Given the description of an element on the screen output the (x, y) to click on. 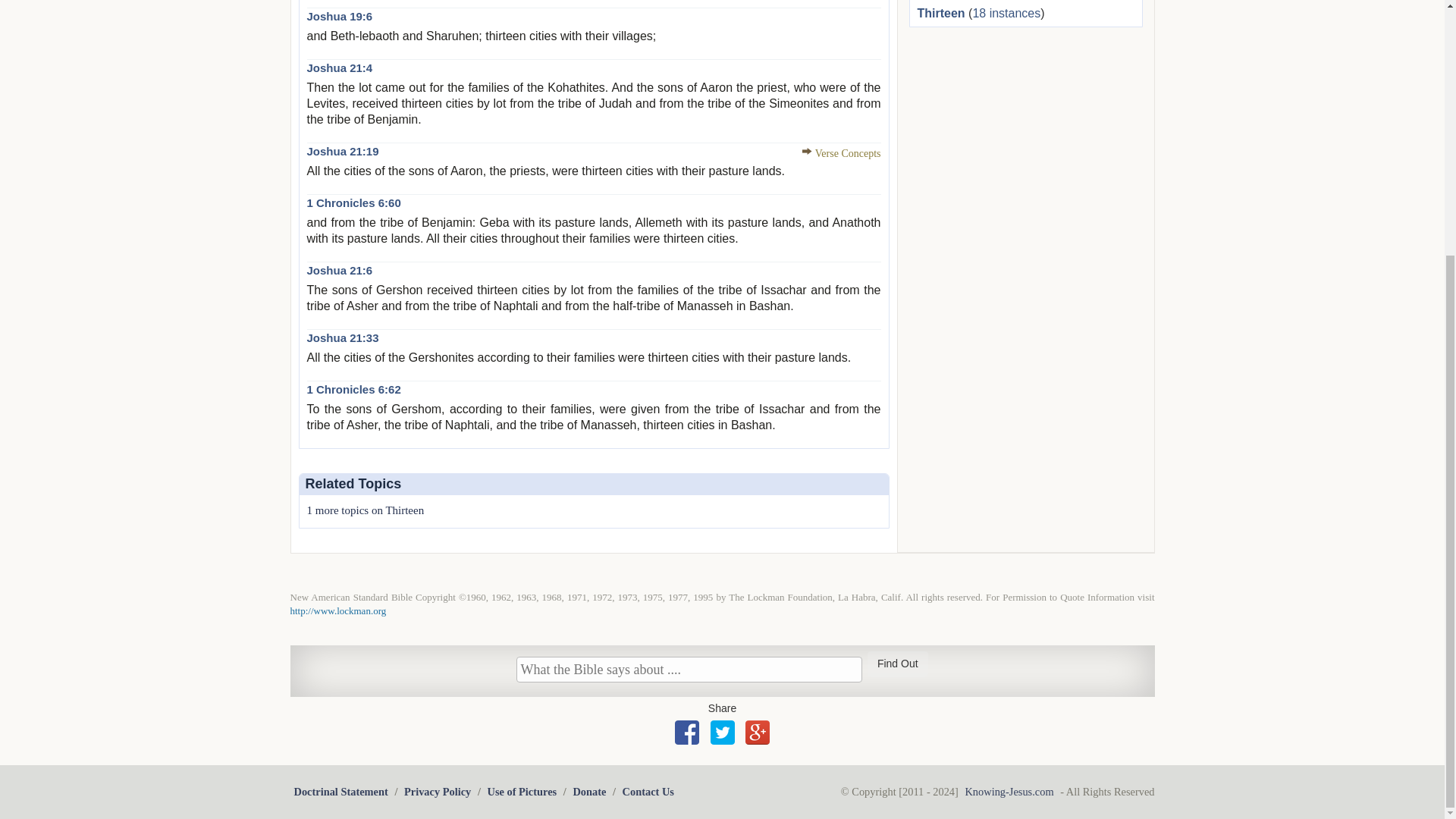
Find Out (897, 664)
Joshua 21:19 Verse Concepts (841, 153)
Share with Twitter (721, 732)
Share with Facebook (686, 732)
